Given the description of an element on the screen output the (x, y) to click on. 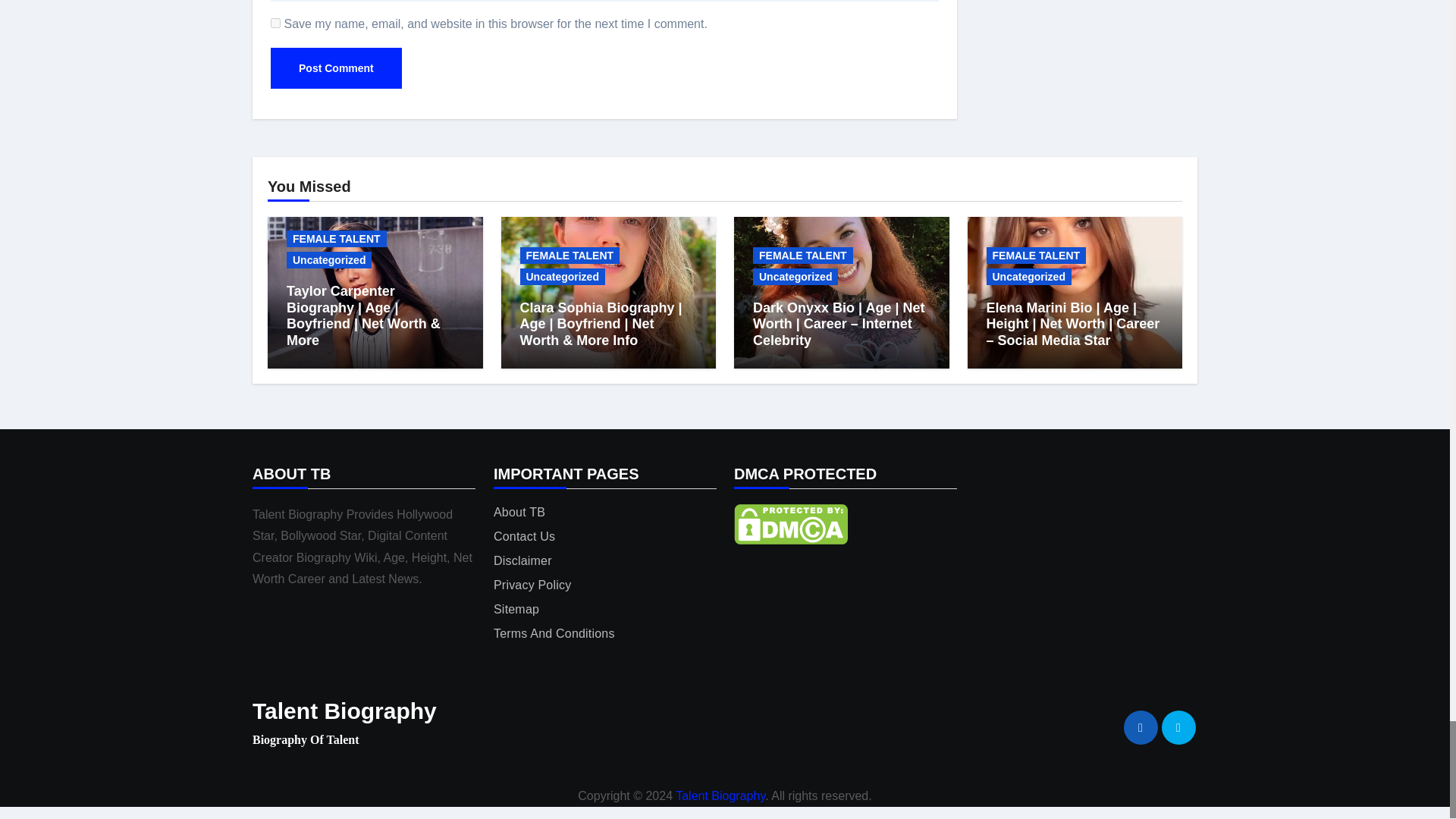
yes (275, 22)
Post Comment (335, 67)
